Given the description of an element on the screen output the (x, y) to click on. 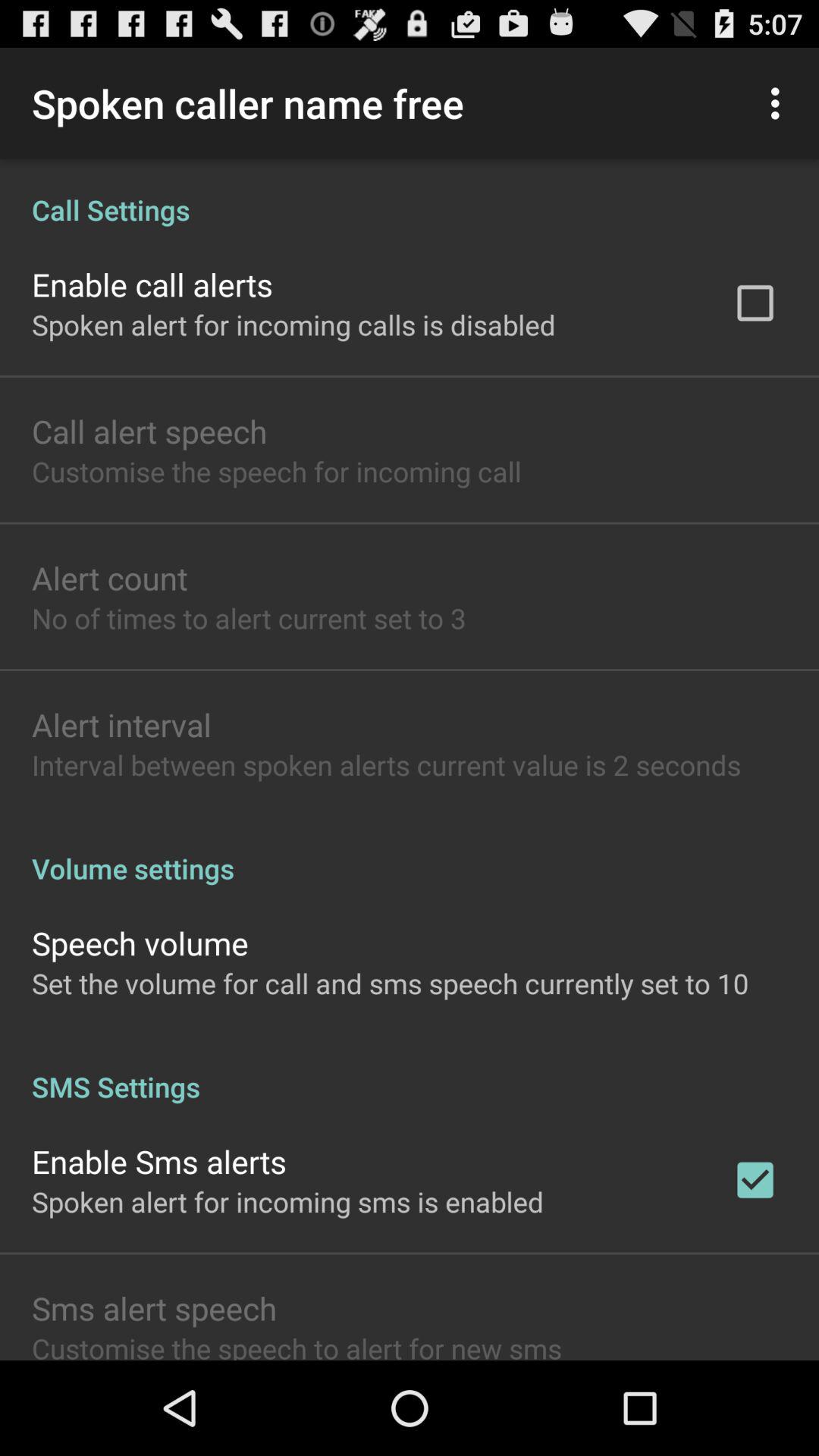
press icon above the enable call alerts app (409, 193)
